Given the description of an element on the screen output the (x, y) to click on. 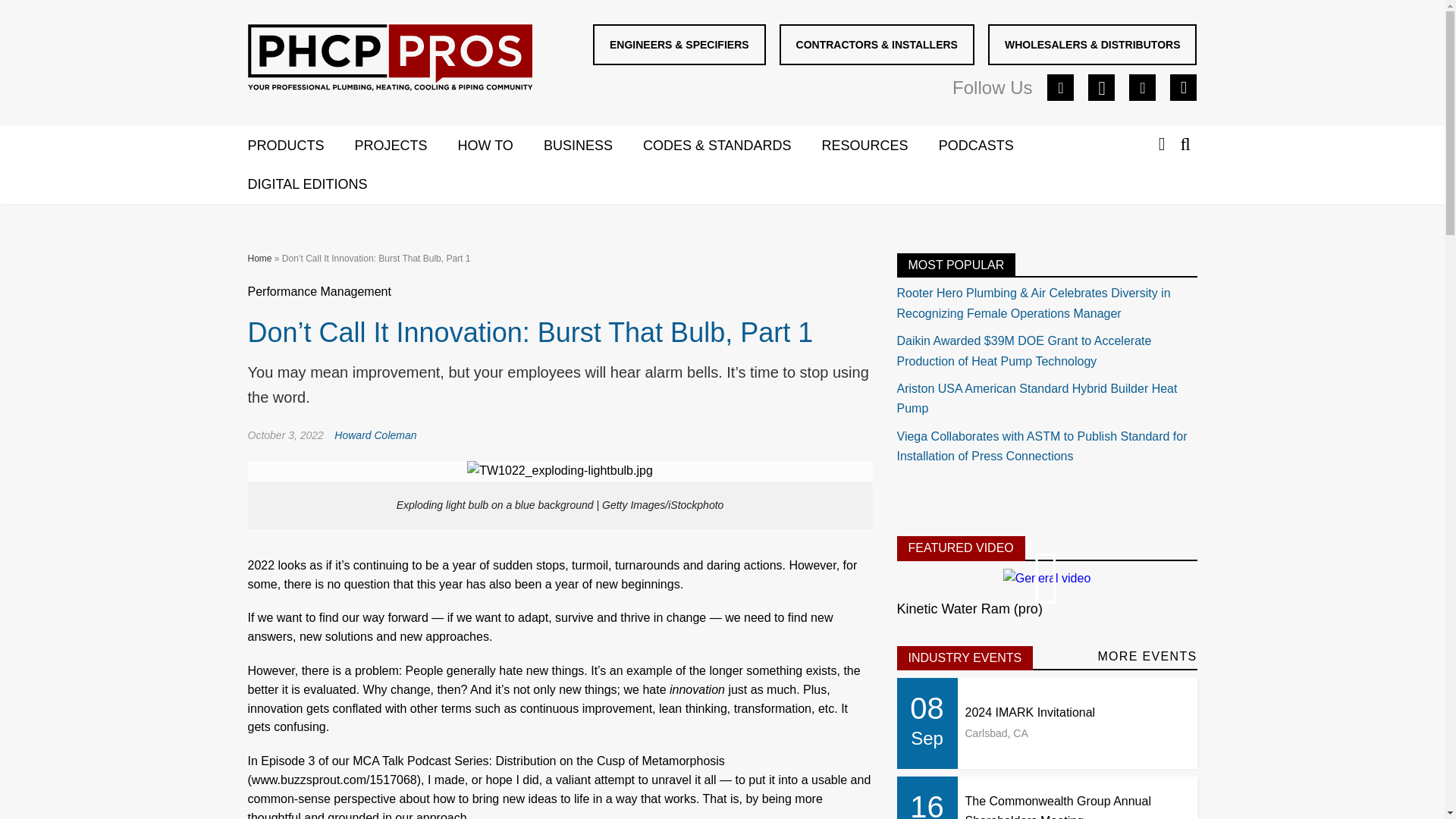
logo (389, 57)
PROJECTS (406, 146)
HOW TO (500, 146)
logo (389, 60)
BUSINESS (593, 146)
PRODUCTS (300, 146)
